Given the description of an element on the screen output the (x, y) to click on. 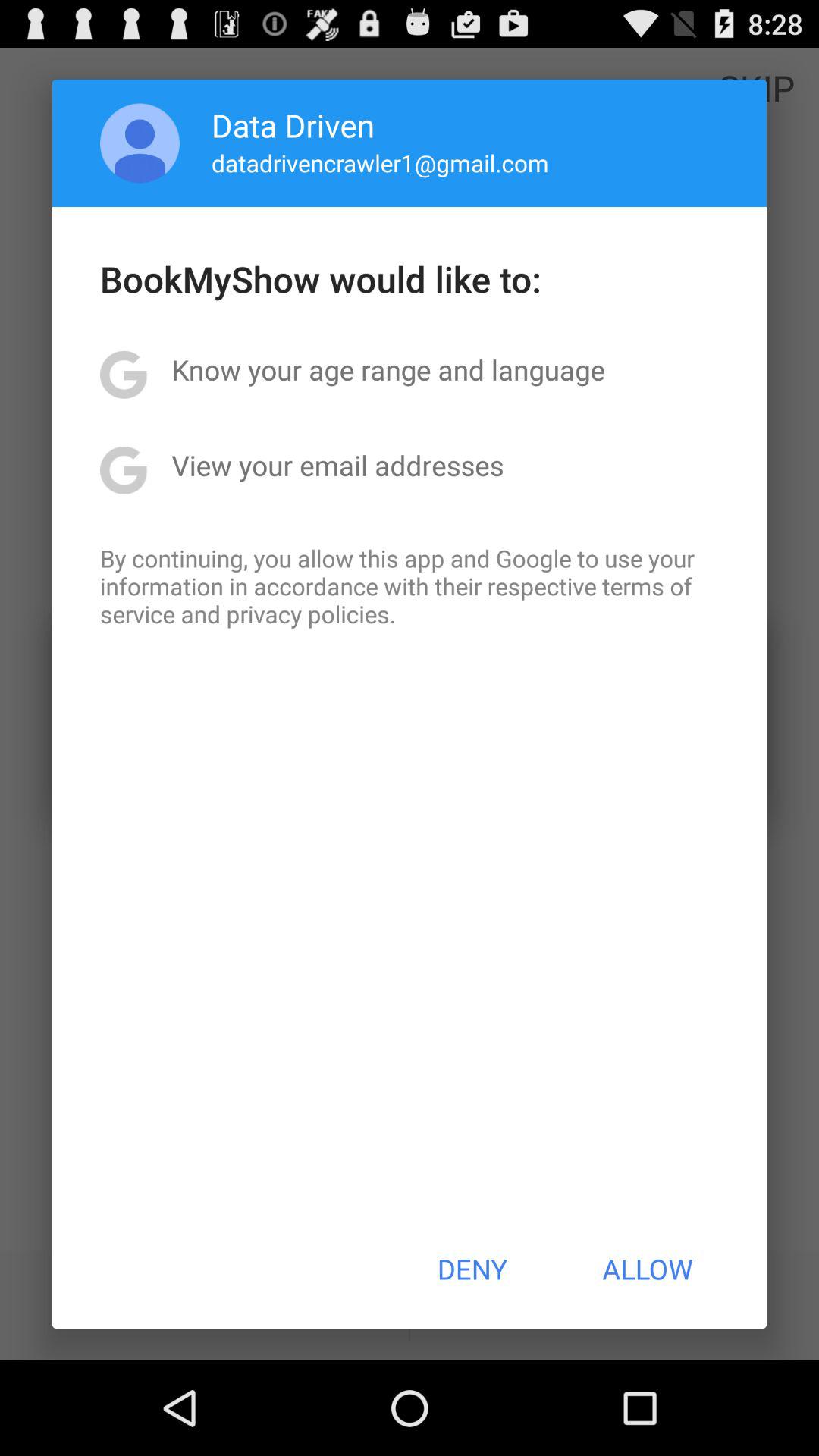
open icon below know your age item (337, 465)
